Given the description of an element on the screen output the (x, y) to click on. 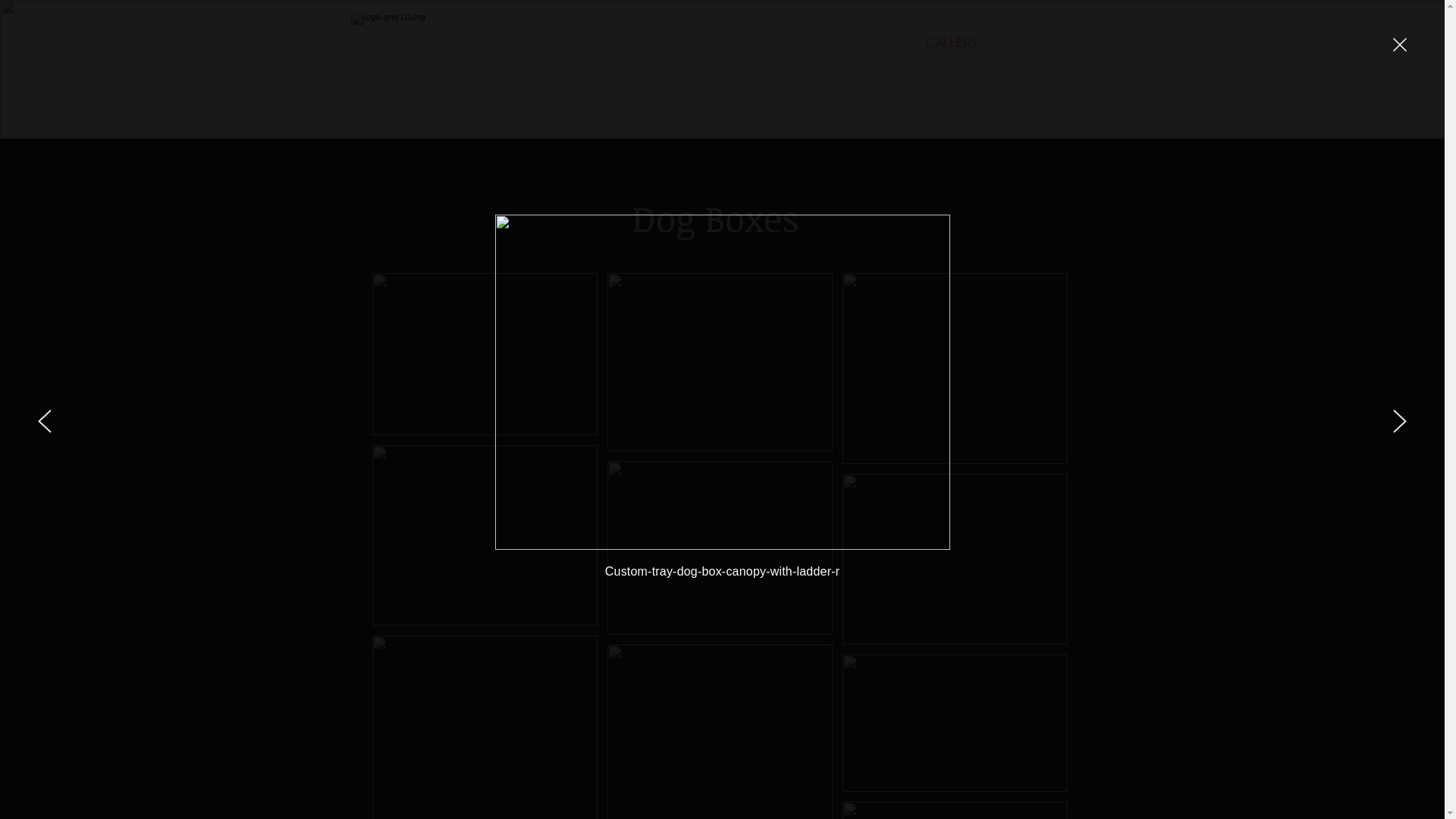
CONTACT Element type: text (1046, 42)
HOME Element type: text (669, 42)
GALLERY Element type: text (951, 42)
ABOUT US Element type: text (855, 42)
SERVICES Element type: text (757, 42)
